Given the description of an element on the screen output the (x, y) to click on. 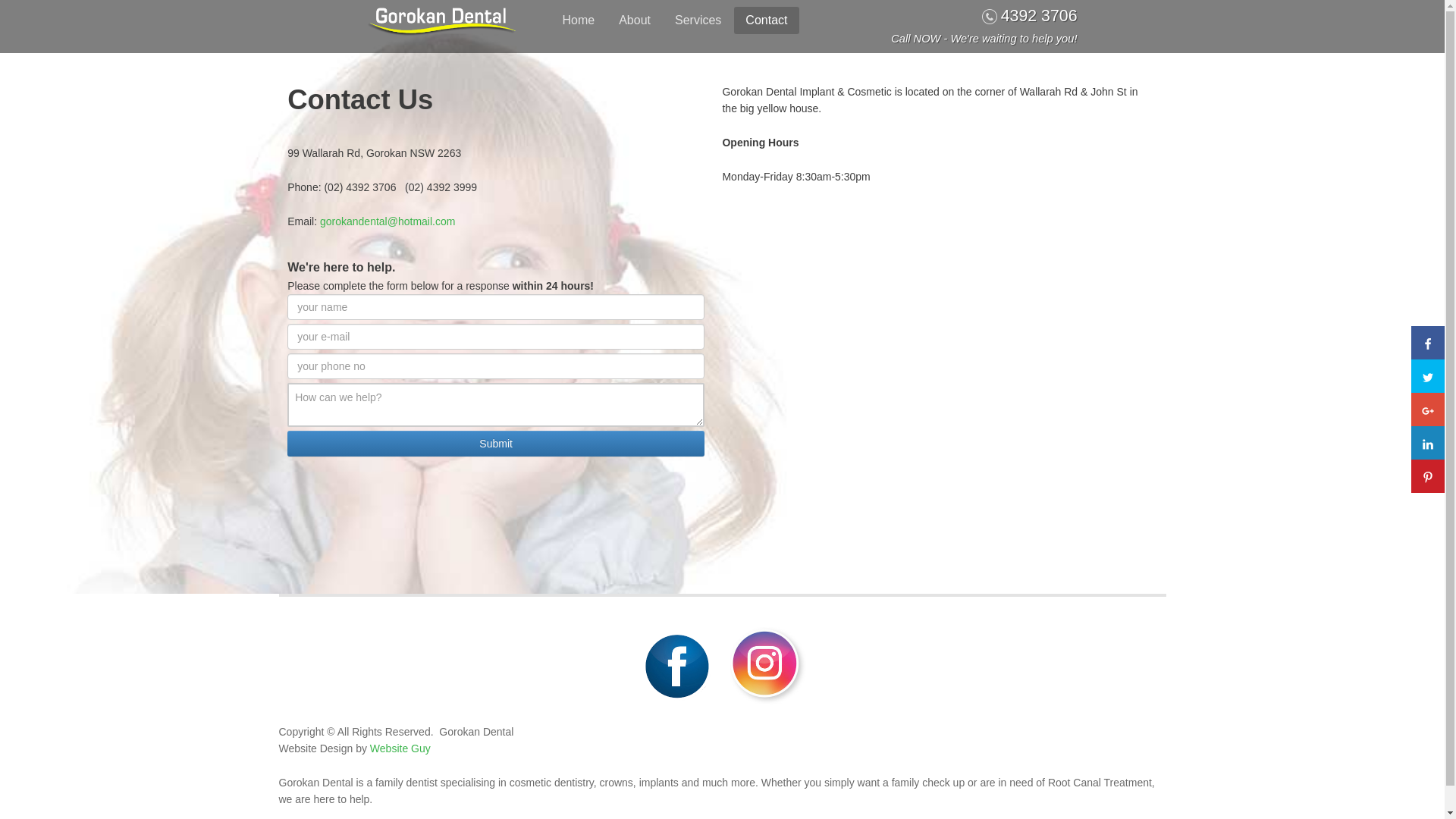
Contact Element type: text (766, 20)
About Element type: text (634, 20)
Services Element type: text (697, 20)
Home Element type: text (577, 20)
gorokandental@hotmail.com Element type: text (387, 221)
Submit Element type: text (495, 443)
Website Guy Element type: text (398, 748)
